Given the description of an element on the screen output the (x, y) to click on. 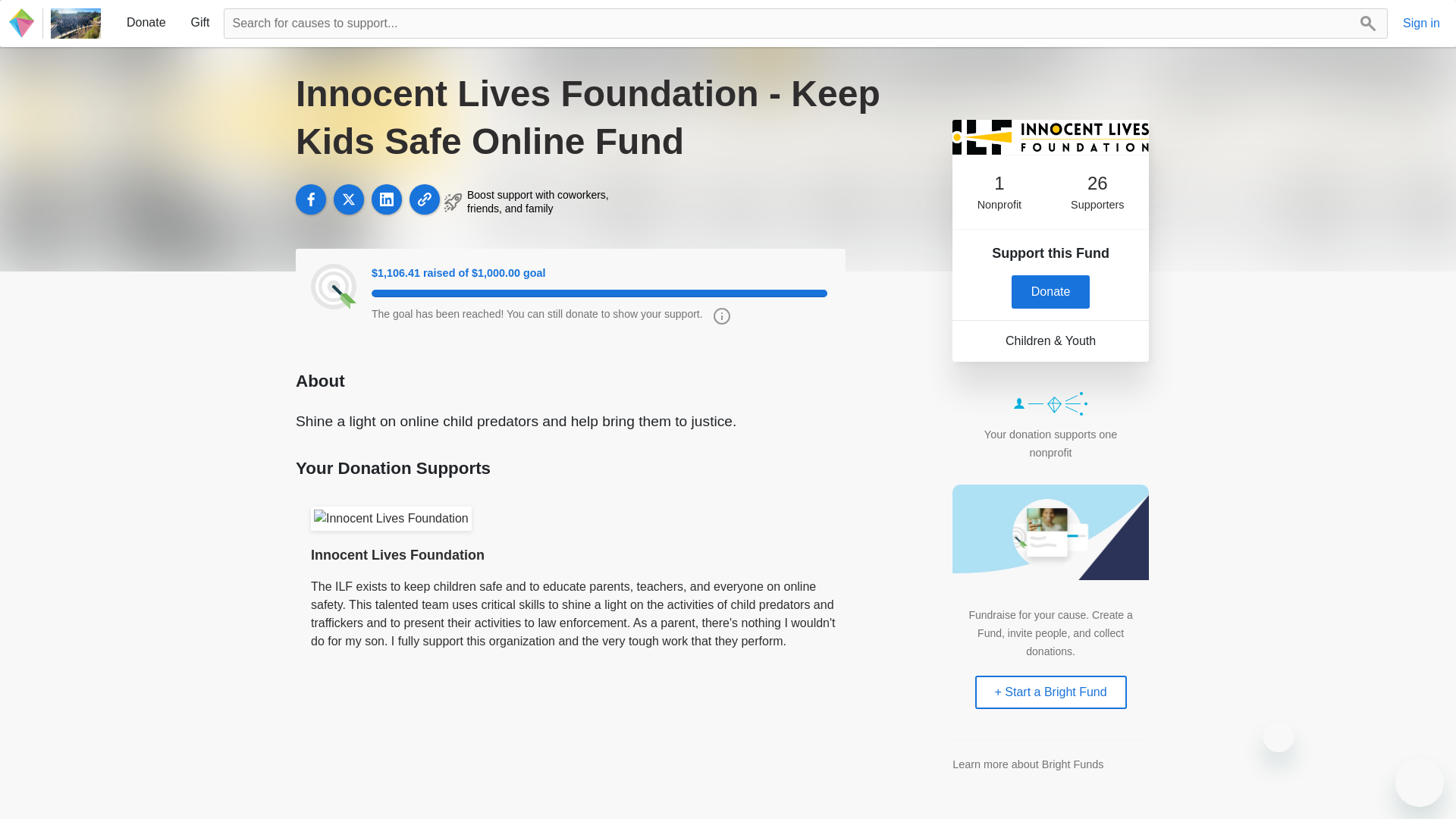
goal-icon-60px Created with Sketch. (333, 286)
Icon - information Created with Sketch. (721, 315)
Icon - information Created with Sketch. (716, 320)
Donate (1050, 291)
Learn more about Bright Funds (1027, 764)
